Given the description of an element on the screen output the (x, y) to click on. 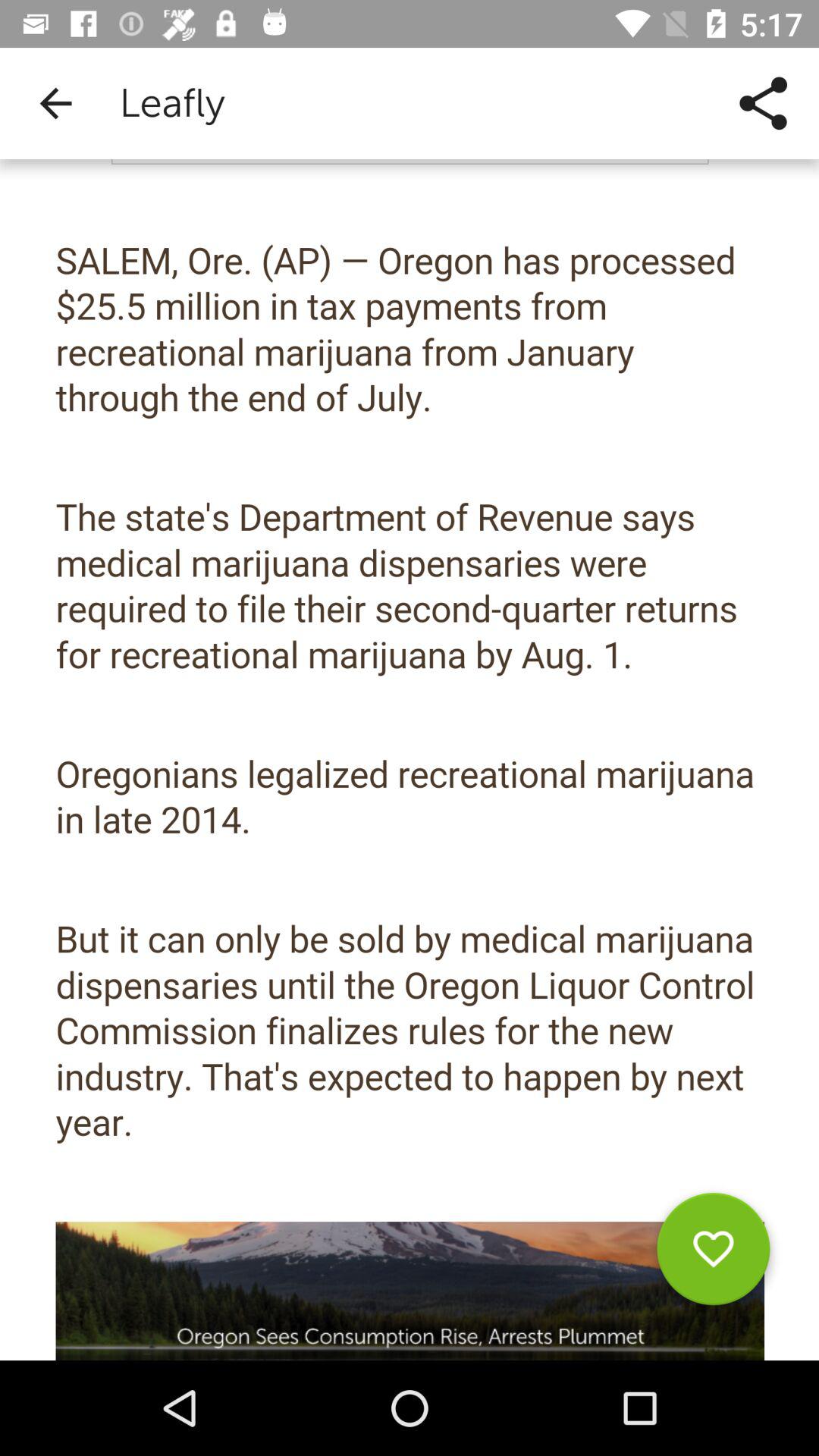
like button (713, 1254)
